Given the description of an element on the screen output the (x, y) to click on. 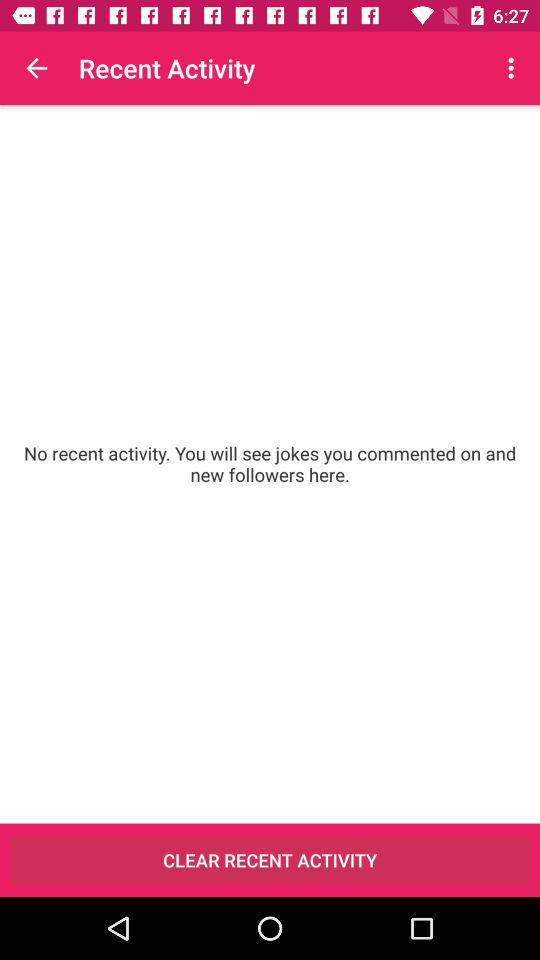
tap the icon above the no recent activity item (513, 67)
